Given the description of an element on the screen output the (x, y) to click on. 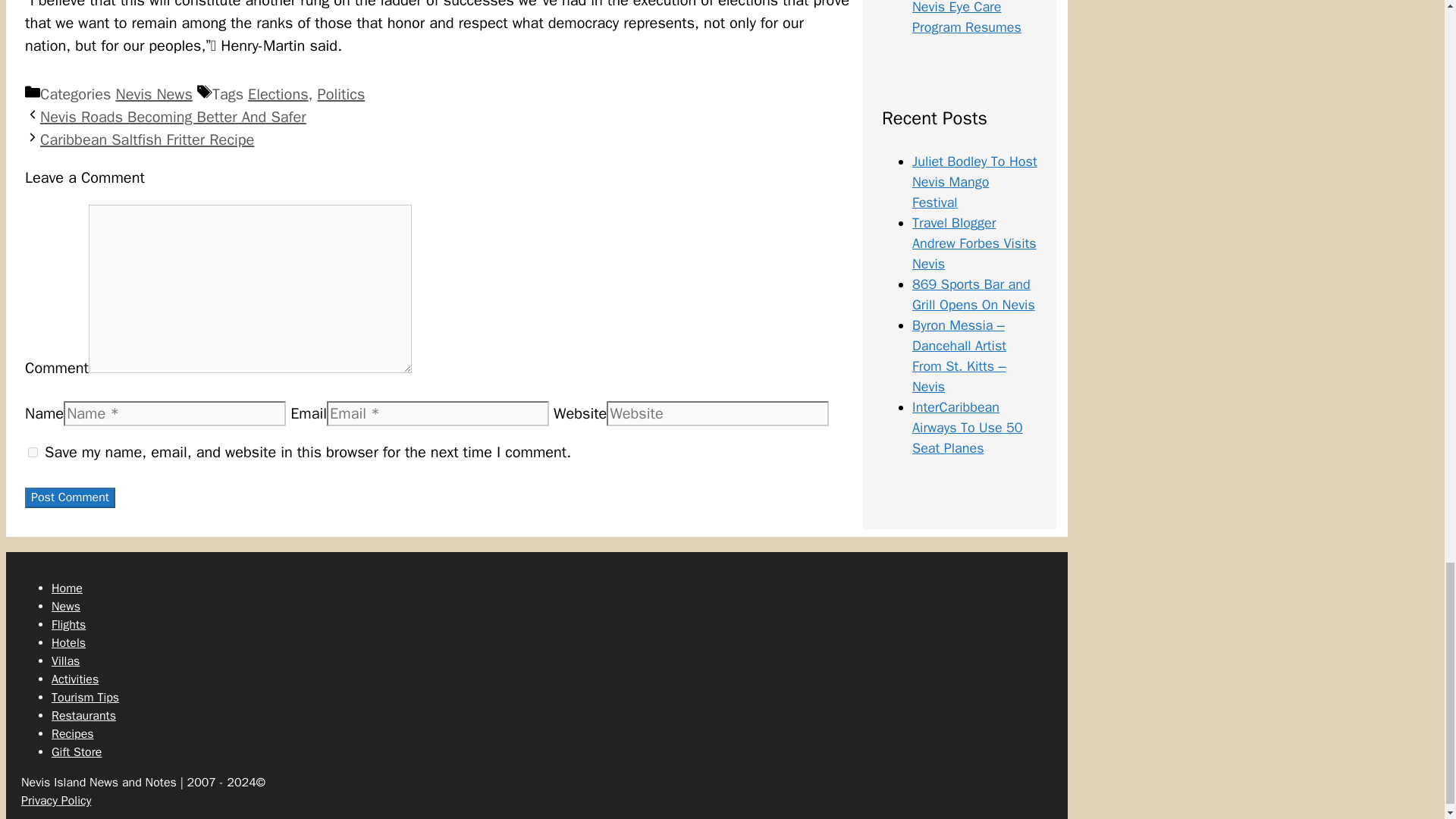
Caribbean Saltfish Fritter Recipe (146, 139)
Post Comment (69, 497)
Elections (277, 94)
Juliet Bodley To Host Nevis Mango Festival (974, 181)
Nevis Eye Care Program Resumes (967, 18)
yes (32, 452)
Nevis News (153, 94)
Nevis Roads Becoming Better And Safer (172, 116)
Politics (341, 94)
Post Comment (69, 497)
